Given the description of an element on the screen output the (x, y) to click on. 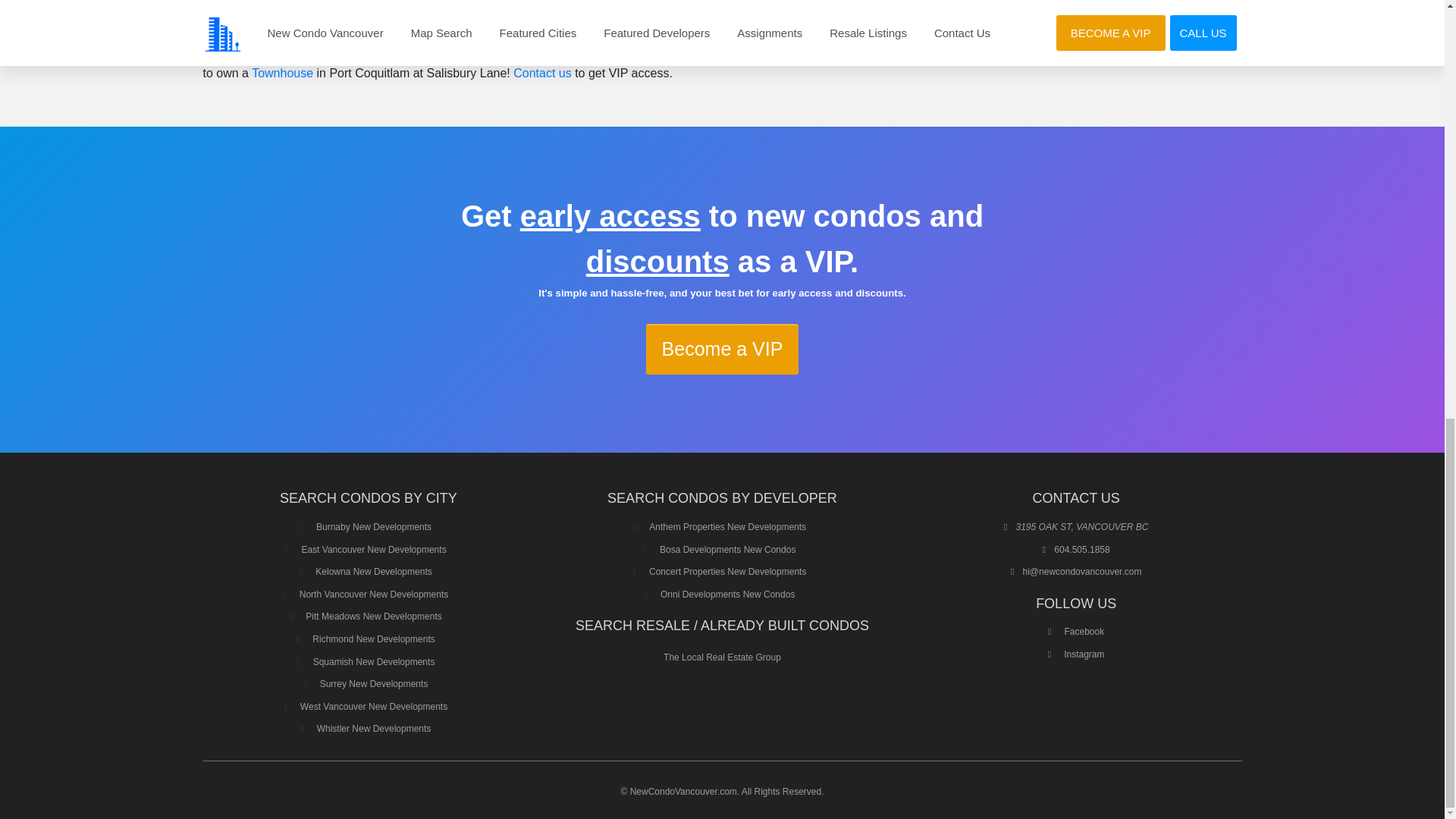
West Vancouver New Developments (372, 706)
Pitt Meadows New Developments (373, 615)
Become a VIP (722, 348)
North Vancouver New Developments (373, 593)
East Vancouver New Developments (373, 549)
Anthem Properties New Developments (727, 526)
Townhouse (282, 72)
Burnaby New Developments (372, 526)
Contact us (541, 72)
Bosa Developments New Condos (726, 549)
Kelowna New Developments (372, 571)
Onni Developments New Condos (727, 593)
Concert Properties New Developments (727, 571)
Richmond New Developments (373, 638)
Whistler New Developments (373, 728)
